Given the description of an element on the screen output the (x, y) to click on. 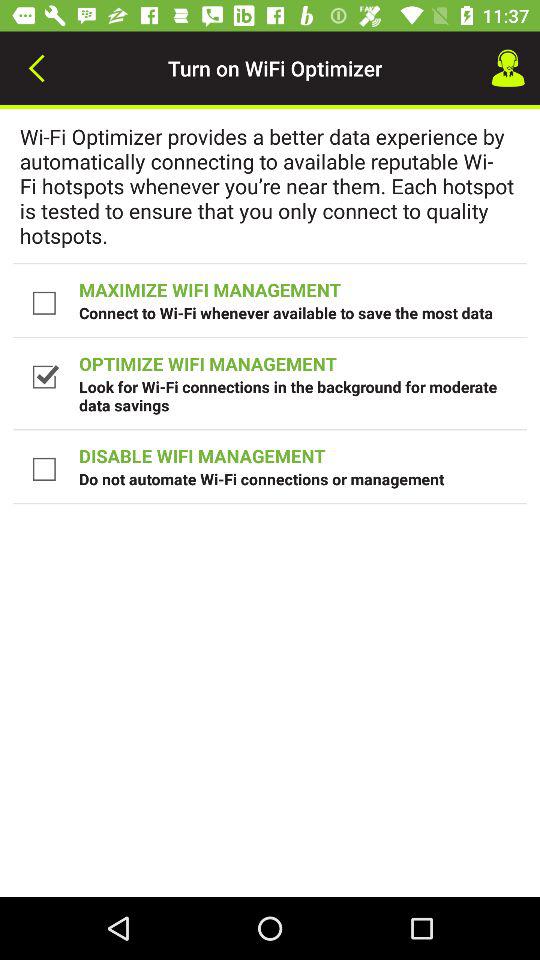
open icon next to the turn on wifi icon (508, 67)
